Given the description of an element on the screen output the (x, y) to click on. 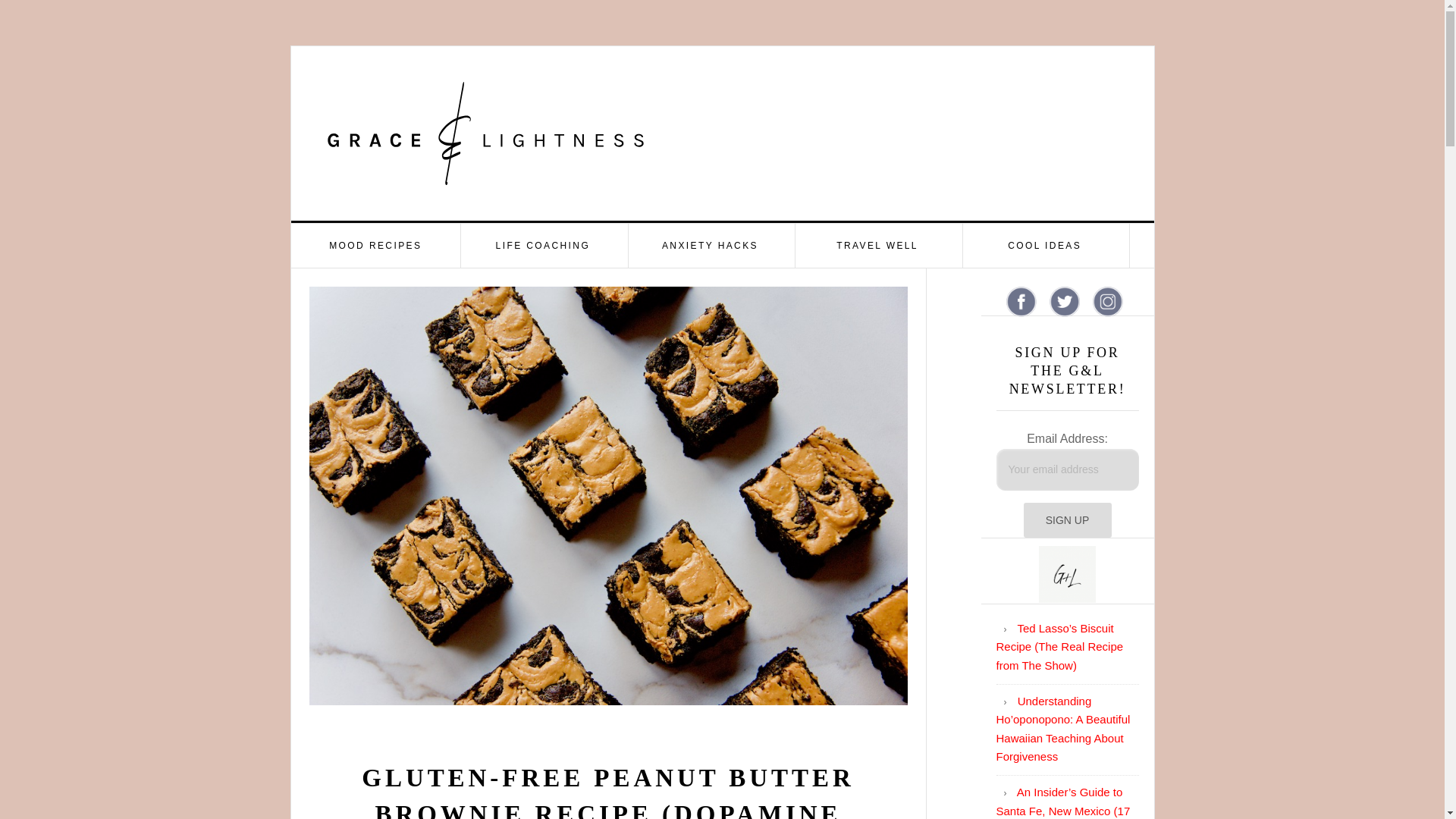
Sign up (1067, 519)
ANXIETY HACKS (711, 245)
LIFE COACHING (543, 245)
Instagram (1107, 301)
Twitter (1064, 301)
MOOD RECIPES (376, 245)
COOL IDEAS (1045, 245)
TRAVEL WELL (877, 245)
Facebook (1021, 301)
